Given the description of an element on the screen output the (x, y) to click on. 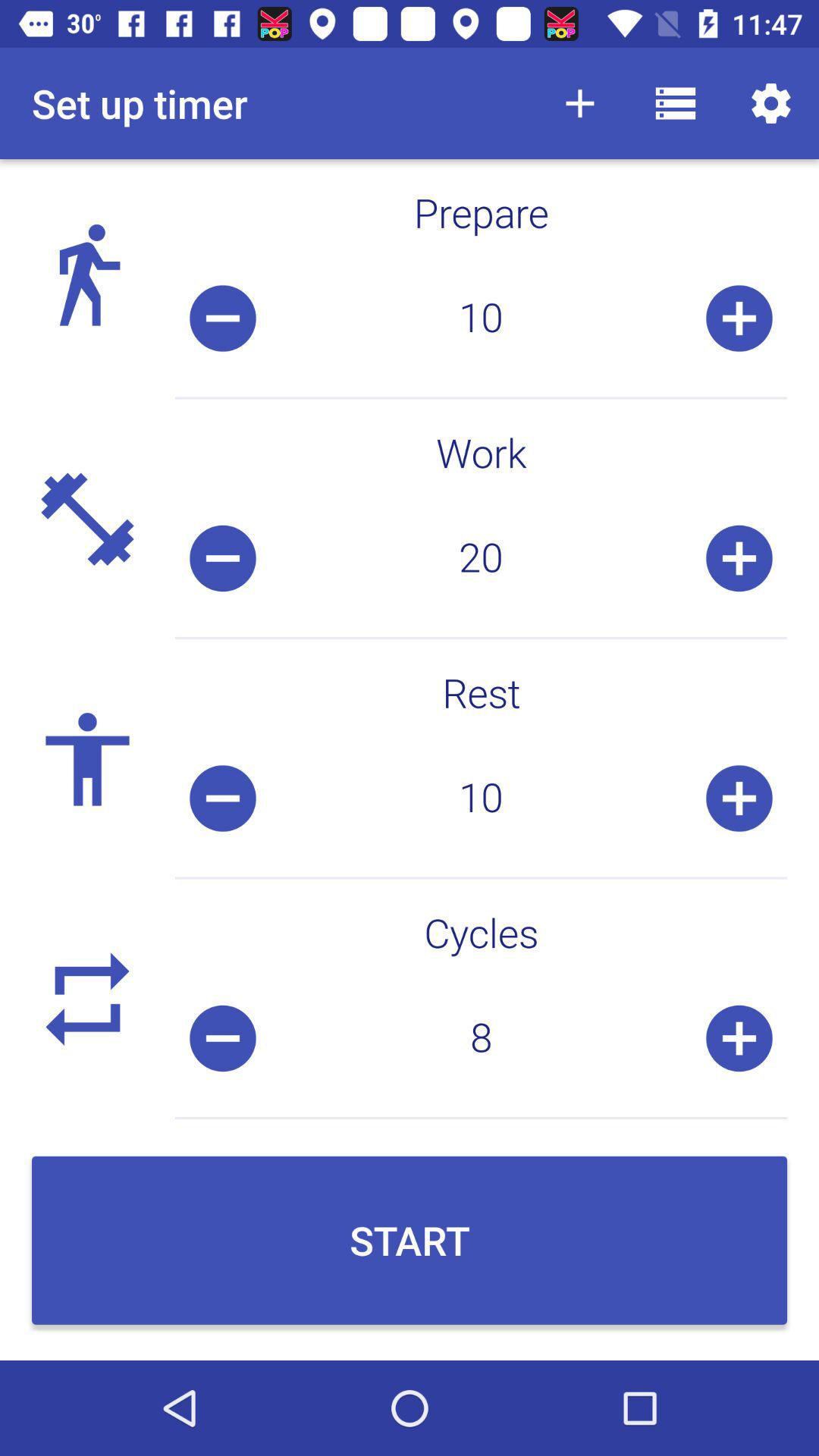
open icon above the rest icon (480, 558)
